Given the description of an element on the screen output the (x, y) to click on. 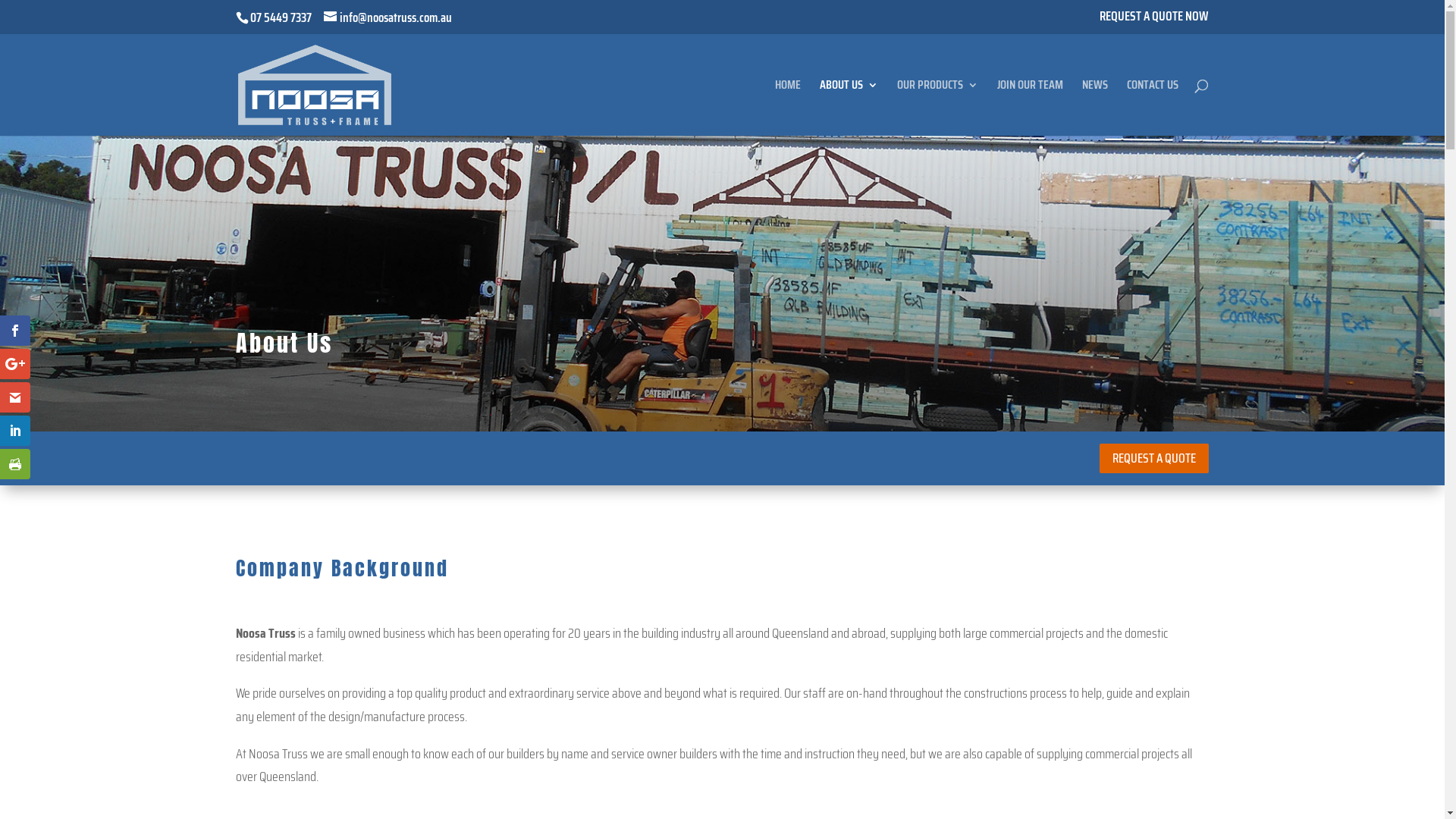
REQUEST A QUOTE Element type: text (1153, 458)
ABOUT US Element type: text (848, 106)
NEWS Element type: text (1094, 106)
info@noosatruss.com.au Element type: text (387, 17)
HOME Element type: text (787, 106)
REQUEST A QUOTE NOW Element type: text (1153, 20)
OUR PRODUCTS Element type: text (937, 106)
JOIN OUR TEAM Element type: text (1030, 106)
CONTACT US Element type: text (1152, 106)
